Given the description of an element on the screen output the (x, y) to click on. 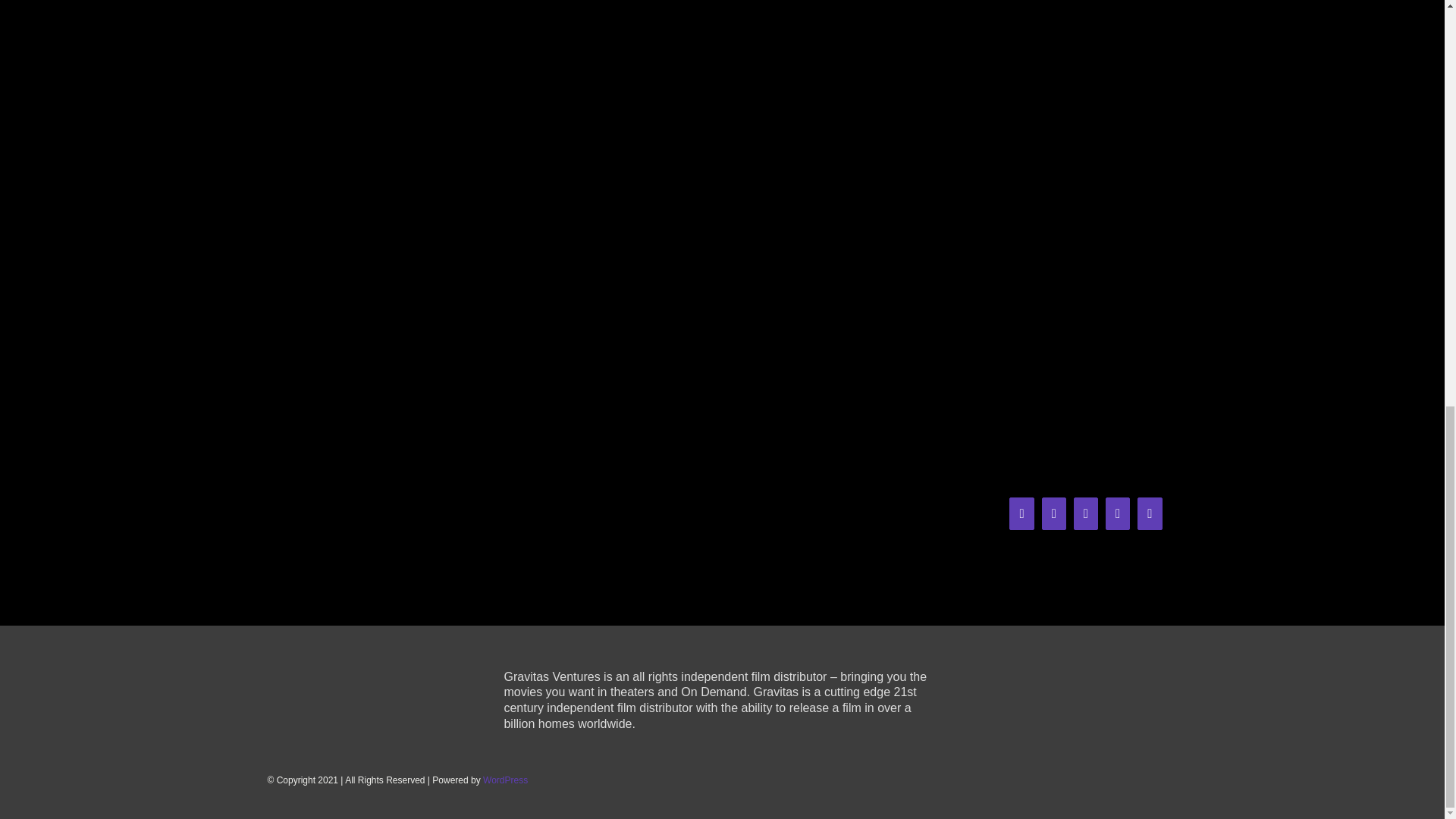
Gravitas Ventures Logo (367, 694)
WordPress (505, 779)
